Given the description of an element on the screen output the (x, y) to click on. 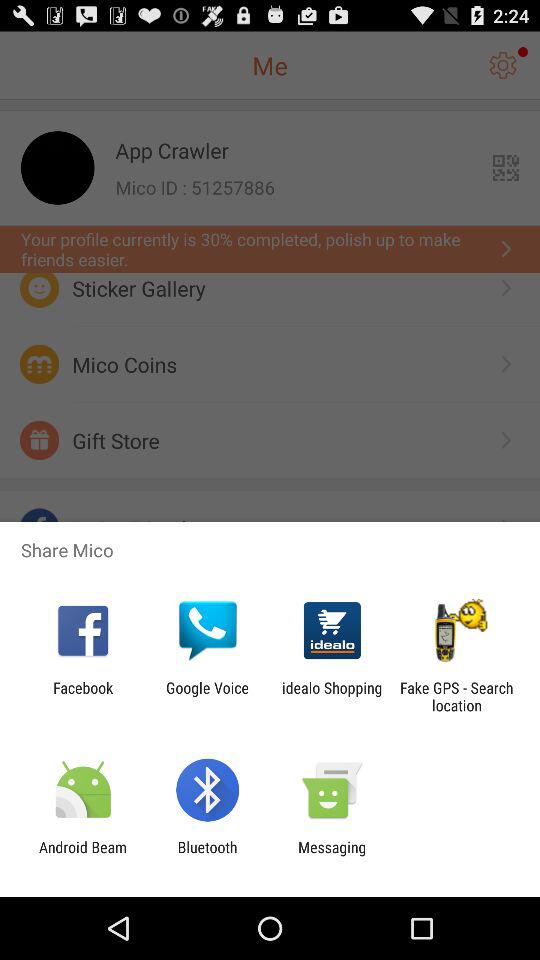
launch icon next to the messaging item (207, 856)
